Given the description of an element on the screen output the (x, y) to click on. 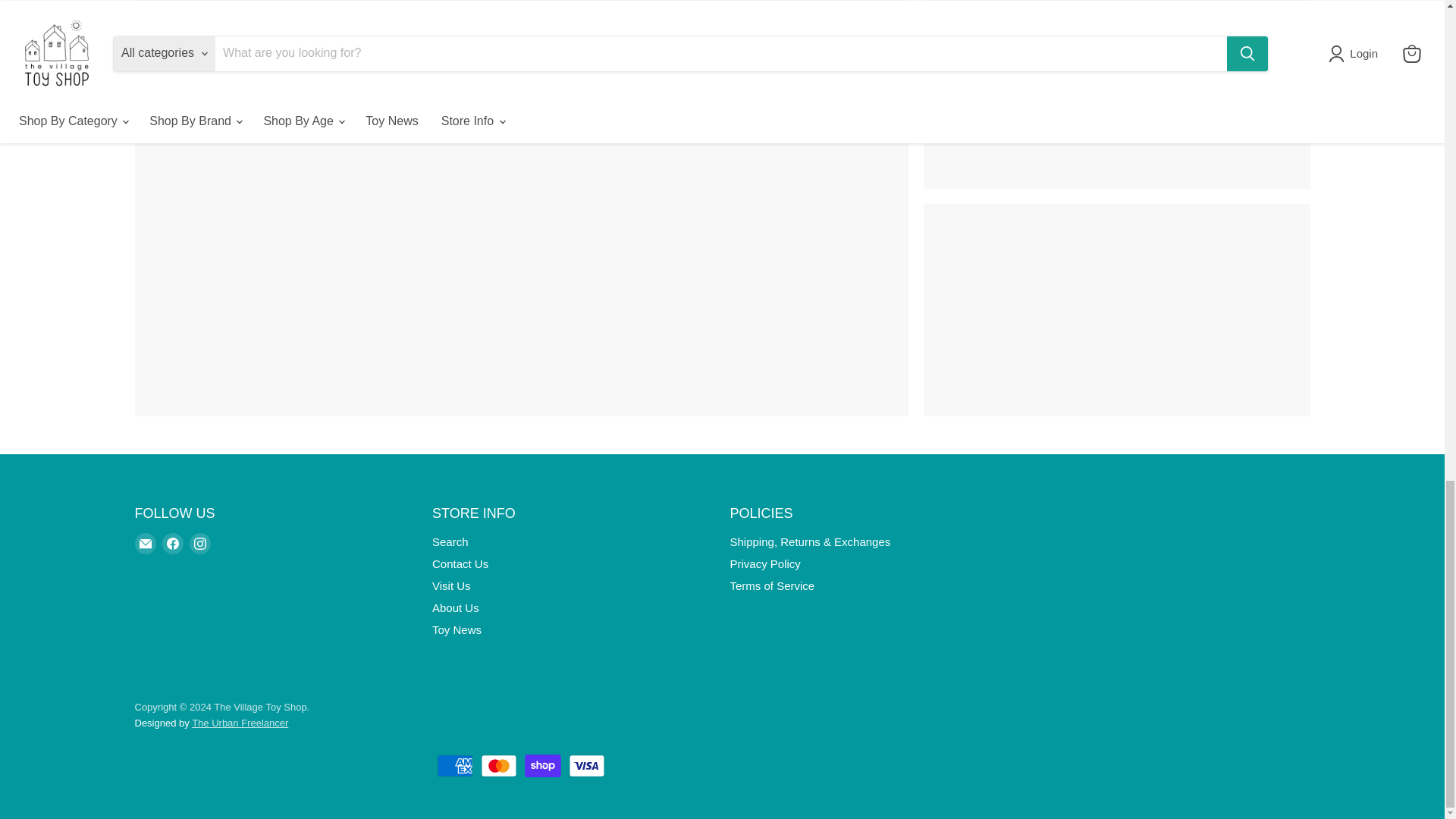
Shop Pay (542, 765)
American Express (454, 765)
Facebook (172, 543)
Email (145, 543)
Instagram (200, 543)
Mastercard (498, 765)
